Given the description of an element on the screen output the (x, y) to click on. 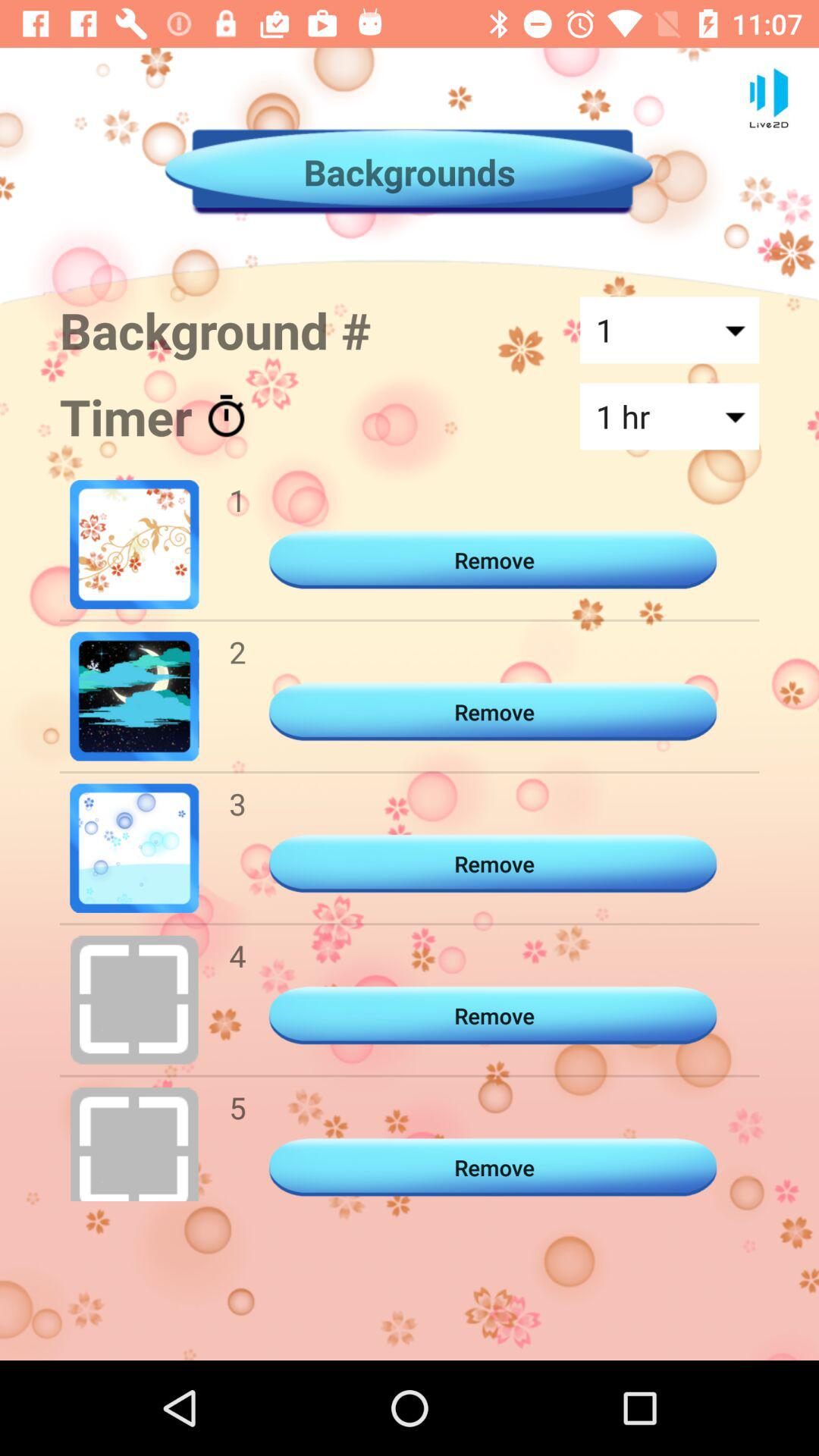
click 4 item (237, 955)
